Given the description of an element on the screen output the (x, y) to click on. 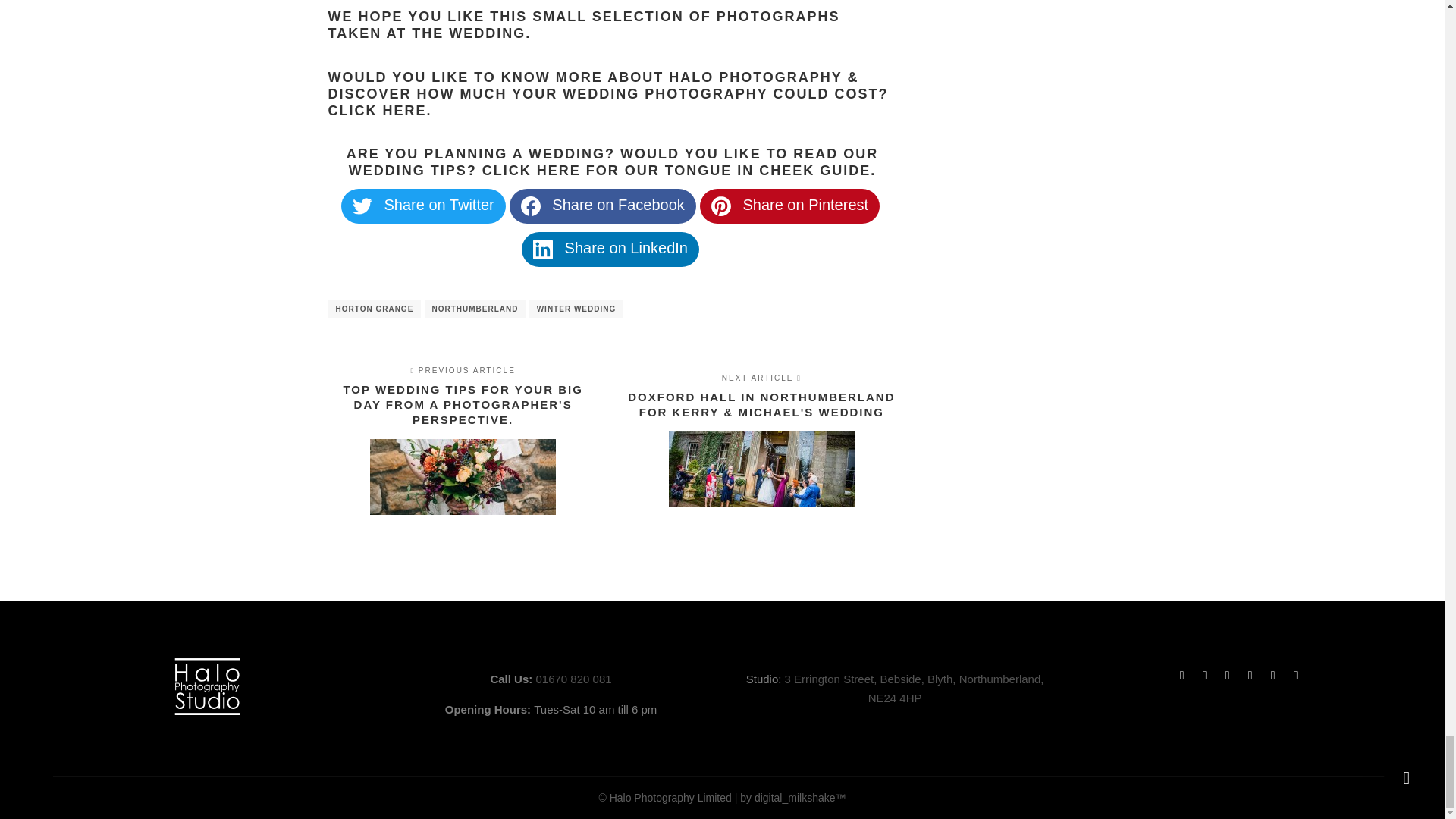
Share on Pinterest Share on Pinterest (789, 206)
Share on Pinterest (789, 206)
Share on Twitter (362, 206)
Share on Pinterest (720, 206)
Share on Facebook (530, 206)
Share on Twitter (422, 206)
Share on Twitter Share on Twitter (422, 206)
Share on LinkedIn (609, 248)
Share on LinkedIn Share on LinkedIn (609, 248)
WINTER WEDDING (576, 308)
Share on Facebook (602, 206)
NORTHUMBERLAND (475, 308)
Share on LinkedIn (542, 249)
